Given the description of an element on the screen output the (x, y) to click on. 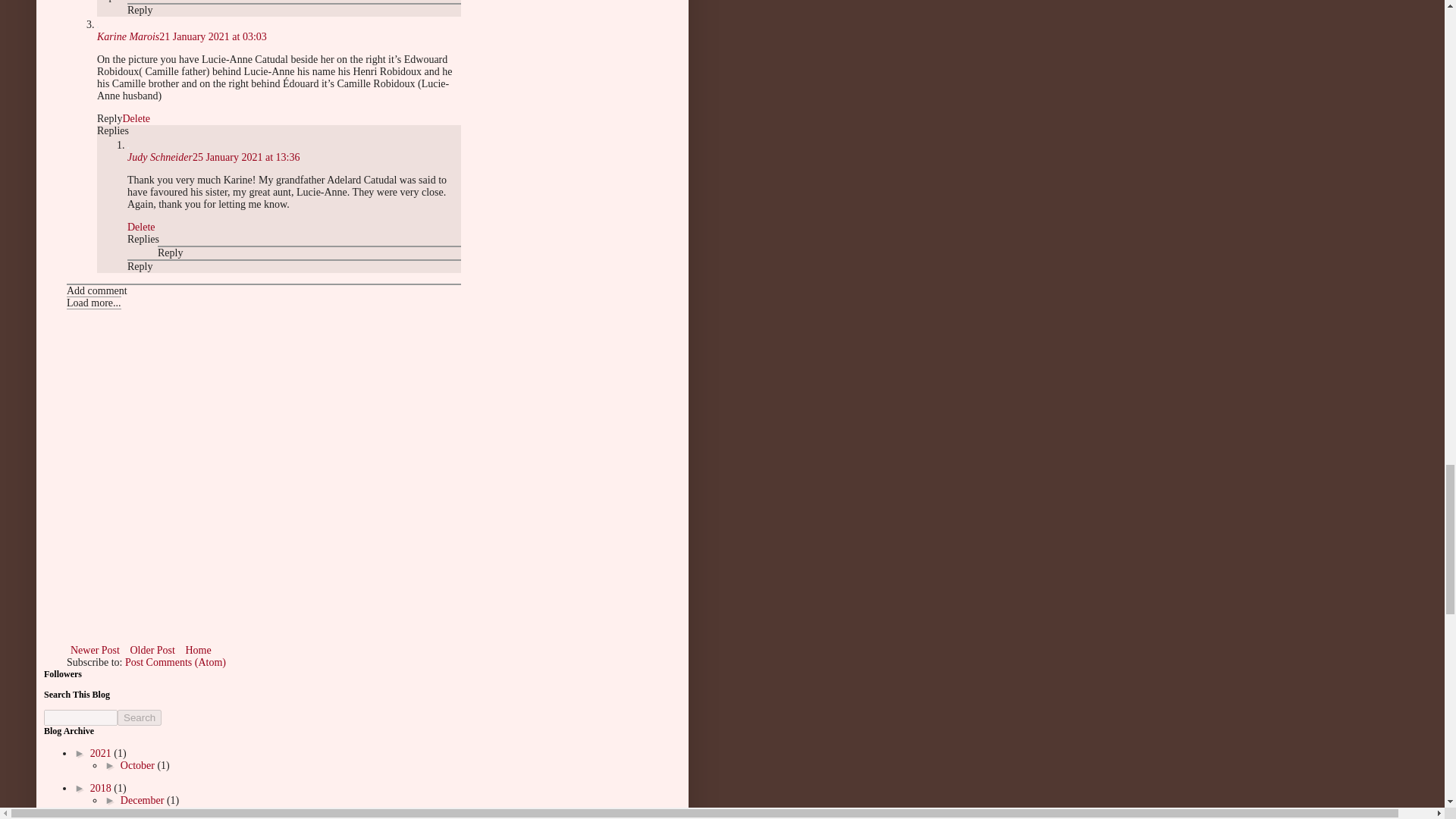
search (139, 717)
Search (139, 717)
Add comment (97, 290)
Newer Post (94, 650)
Replies (143, 238)
Reply (140, 9)
25 January 2021 at 13:36 (245, 156)
Judy Schneider (160, 156)
Replies (113, 130)
21 January 2021 at 03:03 (212, 36)
search (80, 717)
Replies (113, 1)
Reply (170, 252)
Delete (135, 118)
Karine Marois (127, 36)
